Given the description of an element on the screen output the (x, y) to click on. 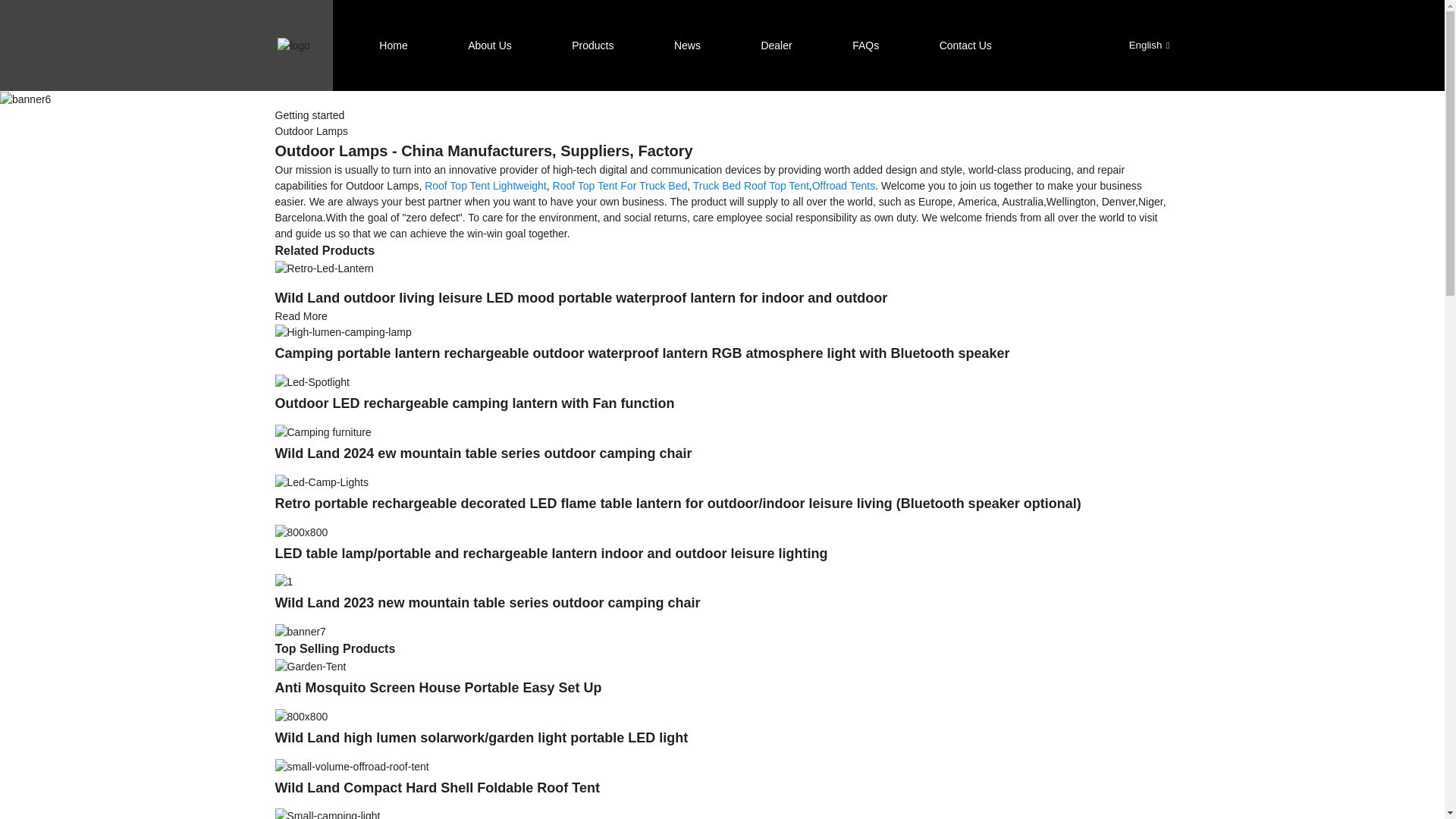
Roof Top Tent For Truck Bed (620, 185)
Getting started (309, 114)
English (1136, 44)
Roof Top Tent For Truck Bed (620, 185)
Outdoor Lamps (311, 131)
Roof Top Tent Lightweight (486, 185)
Read More (300, 316)
Offroad Tents (844, 185)
Outdoor LED rechargeable camping lantern with Fan function (312, 381)
